Given the description of an element on the screen output the (x, y) to click on. 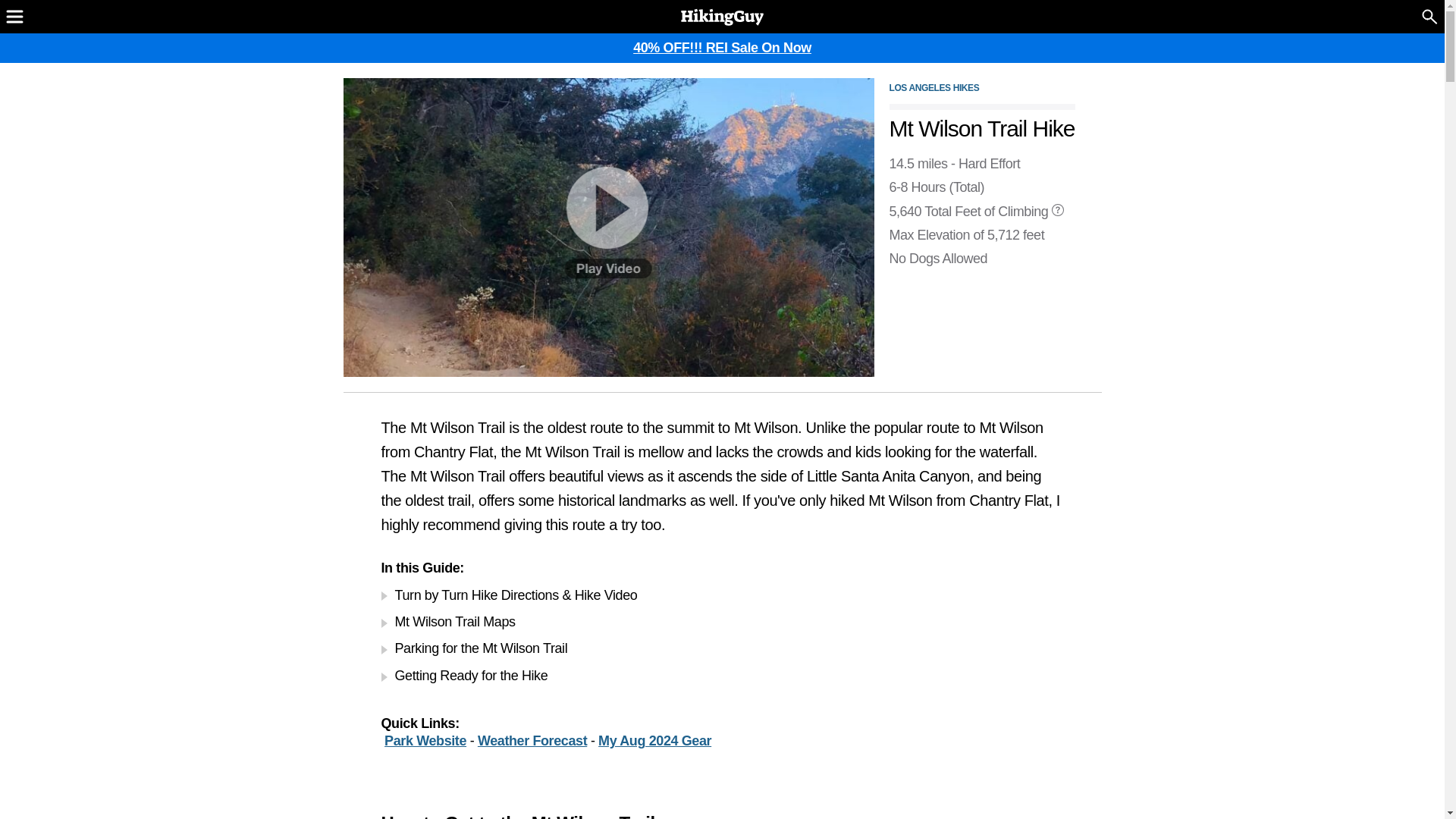
LOS ANGELES HIKES (933, 87)
Park Website (424, 740)
My Aug 2024 Gear (654, 740)
Weather Forecast (531, 740)
